Given the description of an element on the screen output the (x, y) to click on. 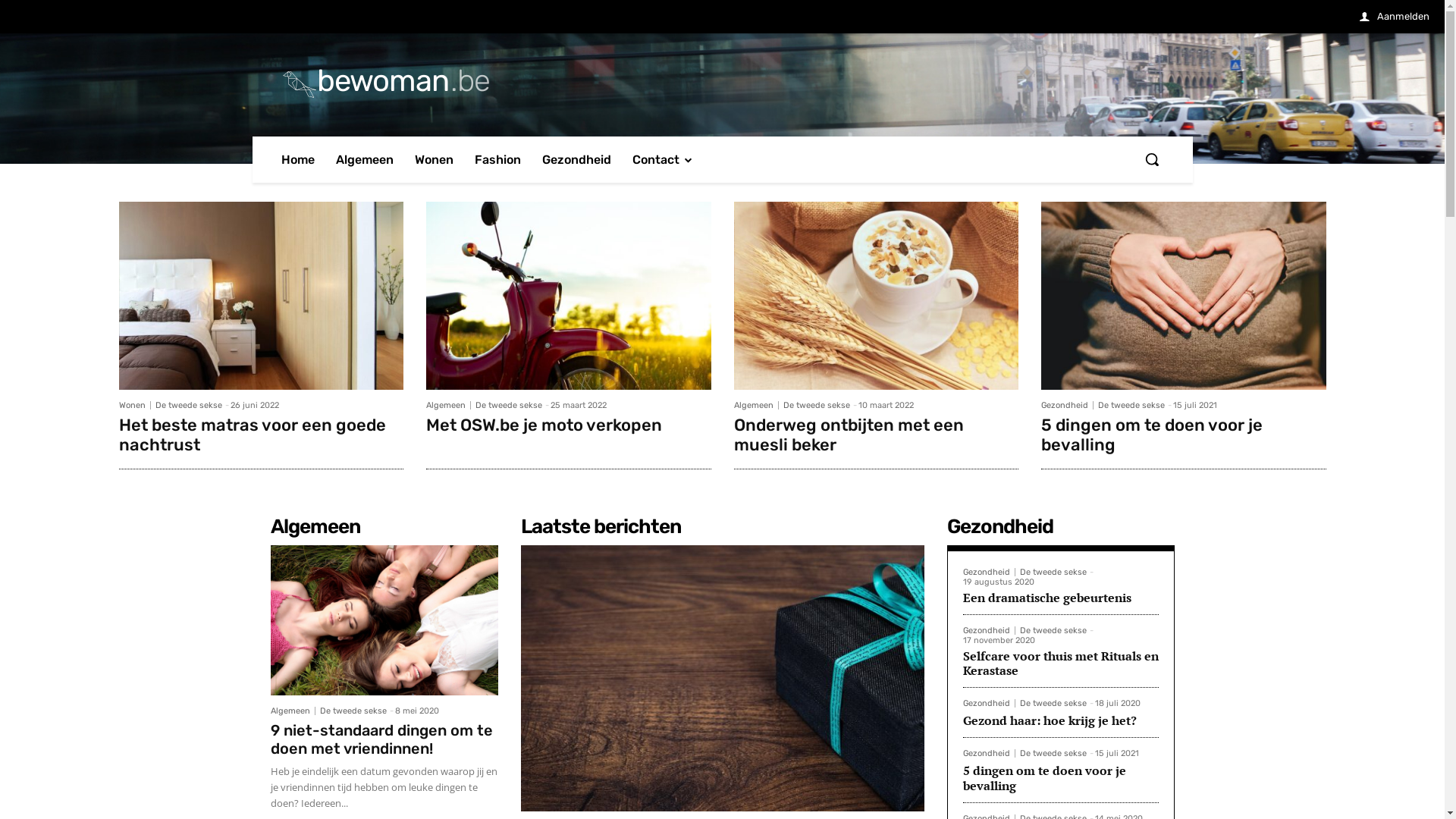
Met OSW.be je moto verkopen Element type: hover (568, 295)
Aanmelden Element type: text (1394, 16)
Wonen Element type: text (433, 159)
Algemeen Element type: text (363, 159)
De tweede sekse Element type: text (1052, 753)
De tweede sekse Element type: text (815, 405)
Een dramatische gebeurtenis Element type: text (1047, 597)
Gezondheid Element type: text (989, 753)
Met OSW.be je moto verkopen Element type: text (544, 424)
9 niet-standaard dingen om te doen met vriendinnen! Element type: text (380, 739)
Algemeen Element type: text (756, 405)
9 niet-standaard dingen om te doen met vriendinnen! Element type: hover (383, 620)
Onderweg ontbijten met een muesli beker Element type: text (848, 434)
Het beste matras voor een goede nachtrust Element type: hover (260, 295)
Contact Element type: text (661, 159)
De tweede sekse Element type: text (1052, 630)
Home Element type: text (296, 159)
Gezondheid Element type: text (575, 159)
De tweede sekse Element type: text (1052, 572)
Wonen Element type: text (134, 405)
Fashion Element type: text (497, 159)
Algemeen Element type: text (448, 405)
Gezond haar: hoe krijg je het? Element type: text (1049, 720)
Wat geef ik mijn vriend cadeau? Element type: hover (721, 678)
De tweede sekse Element type: text (508, 405)
Selfcare voor thuis met Rituals en Kerastase  Element type: text (1060, 662)
5 dingen om te doen voor je bevalling Element type: text (1044, 777)
Gezondheid Element type: text (1067, 405)
bewoman
.be Element type: text (722, 80)
De tweede sekse Element type: text (187, 405)
Onderweg ontbijten met een muesli beker Element type: hover (876, 295)
Gezondheid Element type: text (989, 571)
De tweede sekse Element type: text (353, 710)
5 dingen om te doen voor je bevalling Element type: text (1151, 434)
De tweede sekse Element type: text (1052, 703)
5 dingen om te doen voor je bevalling Element type: hover (1183, 295)
De tweede sekse Element type: text (1131, 405)
Gezondheid Element type: text (989, 703)
Gezondheid Element type: text (989, 630)
Het beste matras voor een goede nachtrust Element type: text (251, 434)
Algemeen Element type: text (291, 710)
